Given the description of an element on the screen output the (x, y) to click on. 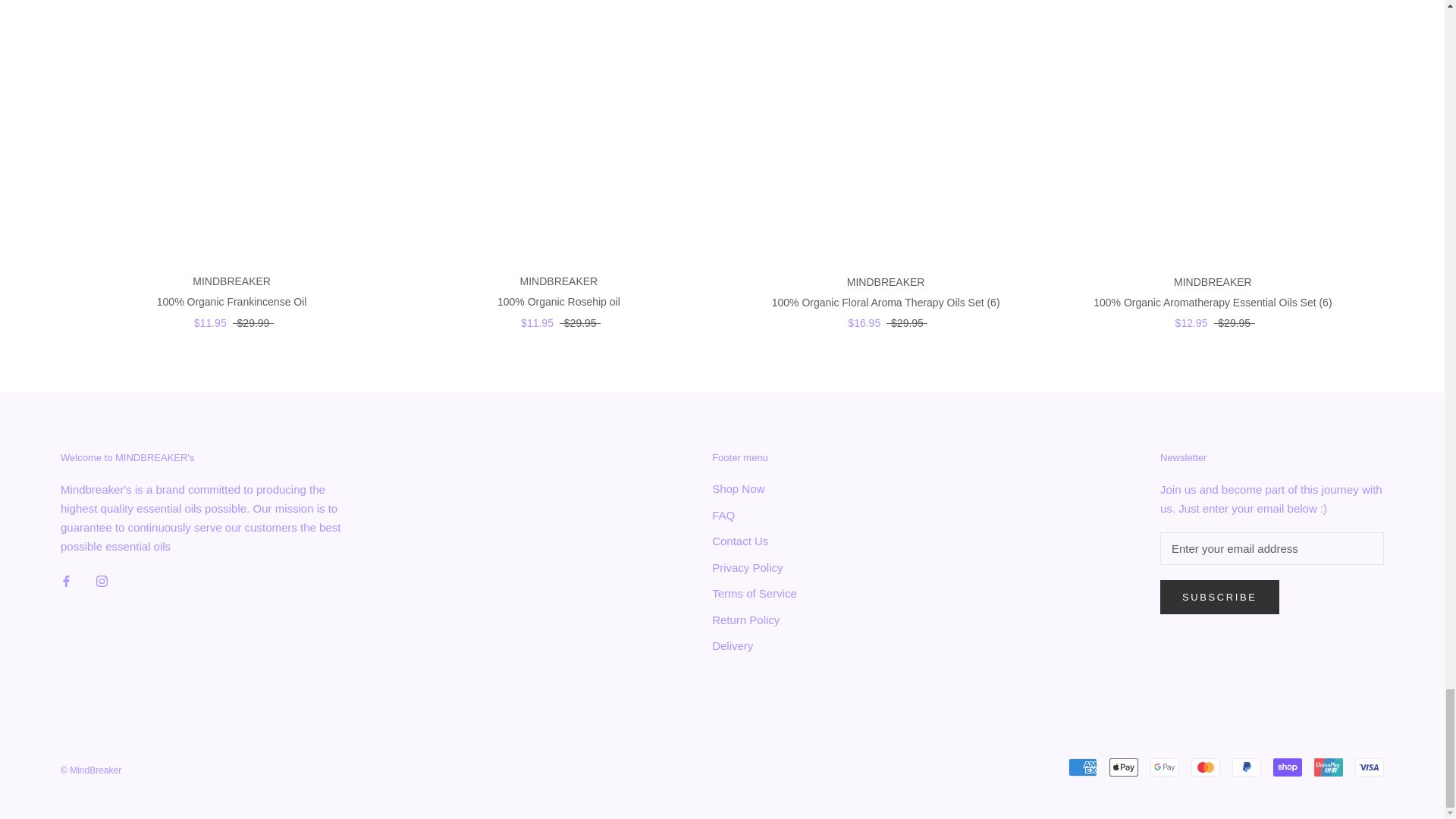
American Express (1082, 767)
Visa (1369, 767)
Apple Pay (1123, 767)
Google Pay (1164, 767)
PayPal (1245, 767)
Union Pay (1328, 767)
Shop Pay (1286, 767)
Mastercard (1205, 767)
